Given the description of an element on the screen output the (x, y) to click on. 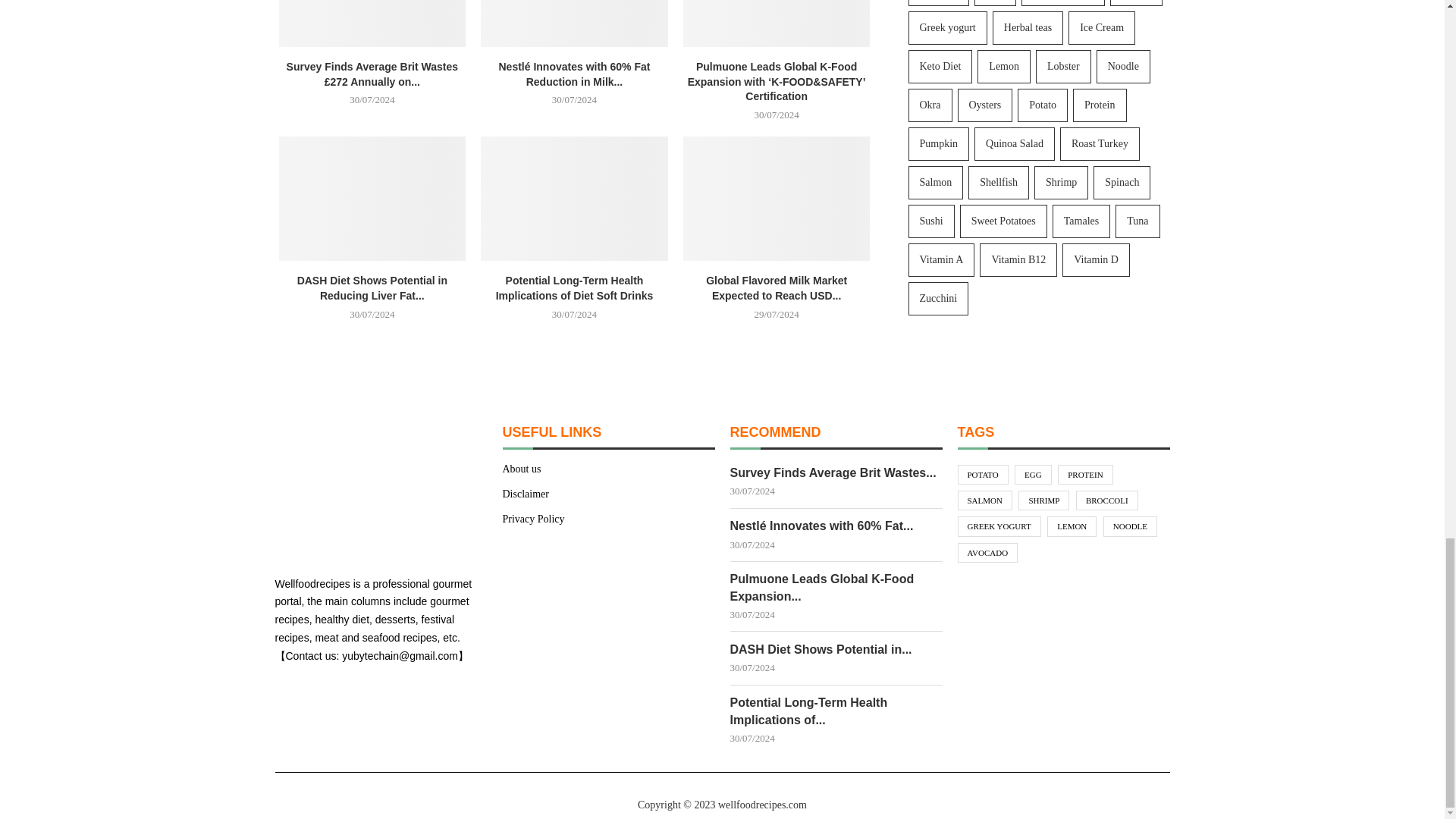
Potential Long-Term Health Implications of Diet Soft Drinks (574, 198)
